Given the description of an element on the screen output the (x, y) to click on. 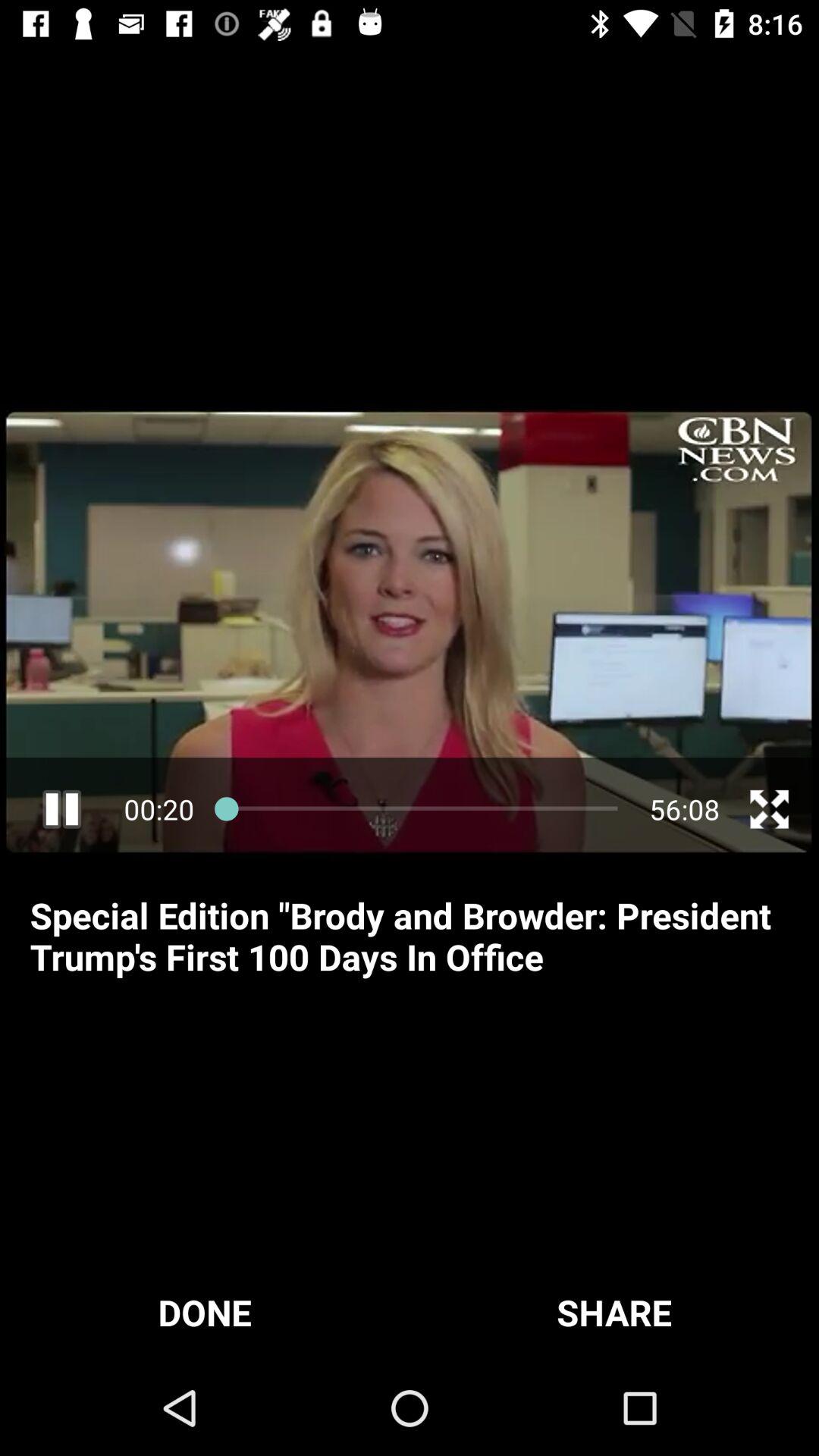
full screen mode (769, 809)
